Given the description of an element on the screen output the (x, y) to click on. 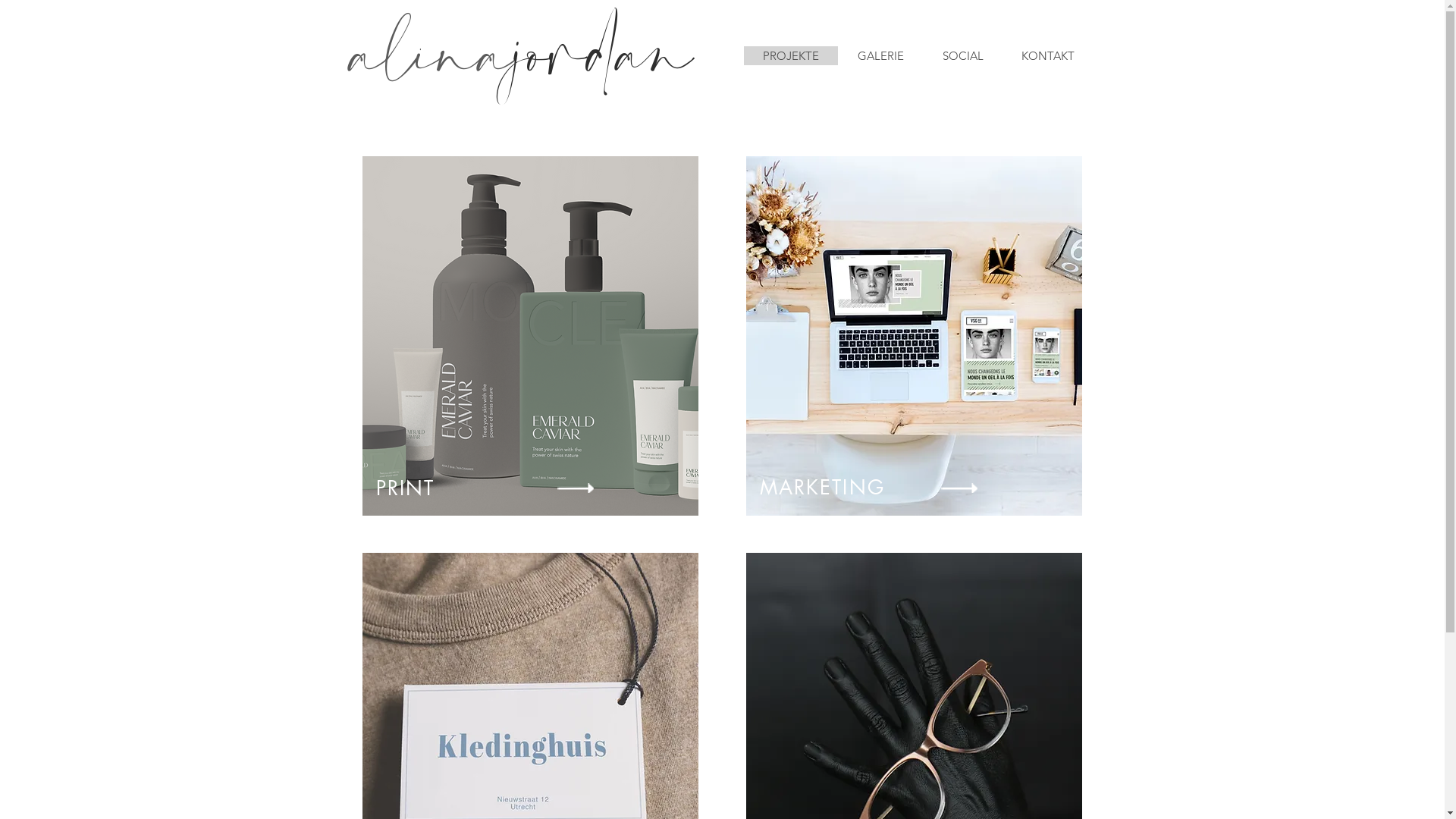
PROJEKTE Element type: text (790, 55)
PRINT Element type: text (405, 488)
GALERIE Element type: text (879, 55)
KONTAKT Element type: text (1047, 55)
SOCIAL Element type: text (961, 55)
MARKETING Element type: text (821, 487)
